Given the description of an element on the screen output the (x, y) to click on. 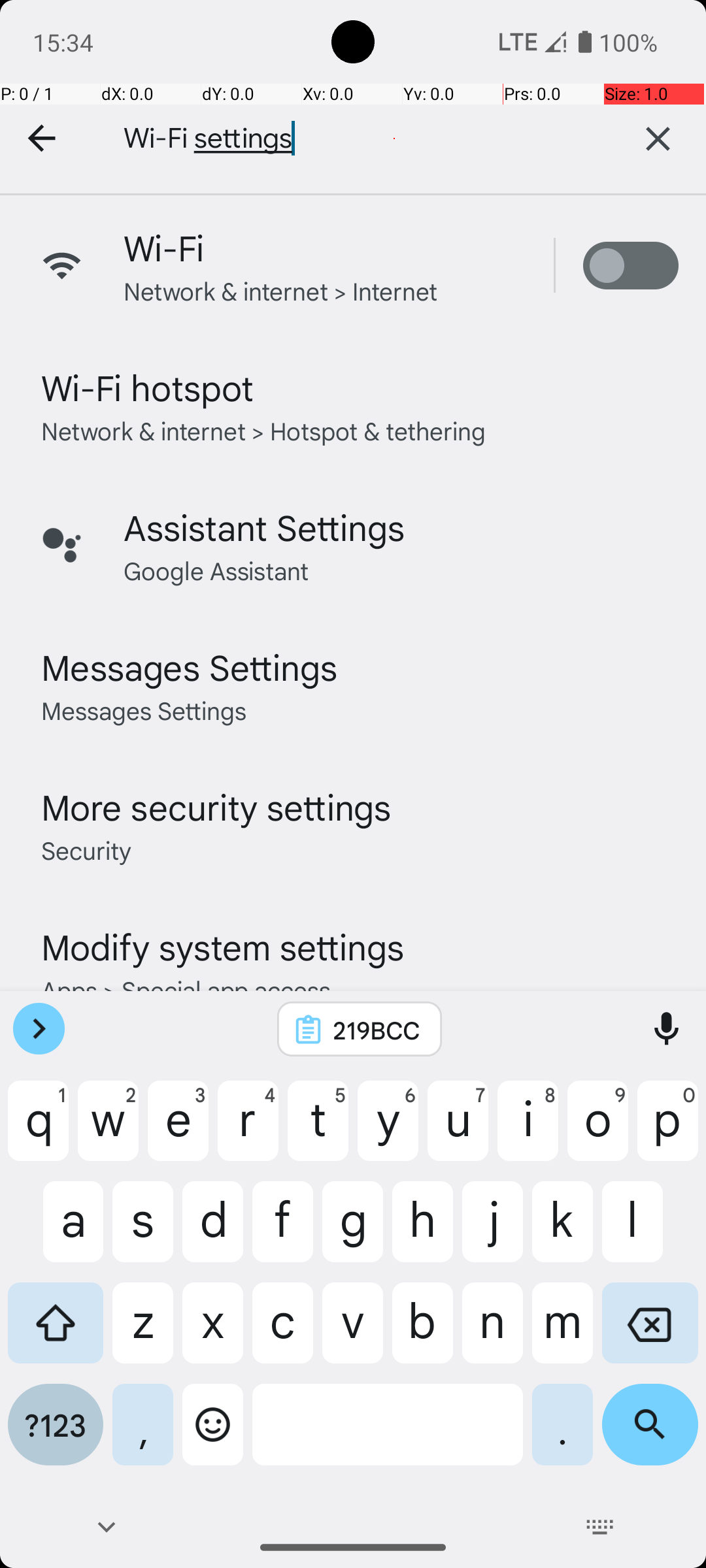
Wi-Fi settings Element type: android.widget.EditText (345, 138)
Clear text Element type: android.widget.ImageButton (657, 138)
Wi-Fi Element type: android.widget.TextView (163, 246)
Network & internet > Internet Element type: android.widget.TextView (280, 289)
Wi-Fi hotspot Element type: android.widget.TextView (147, 386)
Network & internet > Hotspot & tethering Element type: android.widget.TextView (263, 429)
Assistant Settings Element type: android.widget.TextView (263, 526)
Google Assistant Element type: android.widget.TextView (215, 569)
Messages Settings Element type: android.widget.TextView (189, 666)
More security settings Element type: android.widget.TextView (216, 806)
Security Element type: android.widget.TextView (86, 848)
Modify system settings Element type: android.widget.TextView (222, 945)
Apps > Special app access Element type: android.widget.TextView (185, 988)
